Given the description of an element on the screen output the (x, y) to click on. 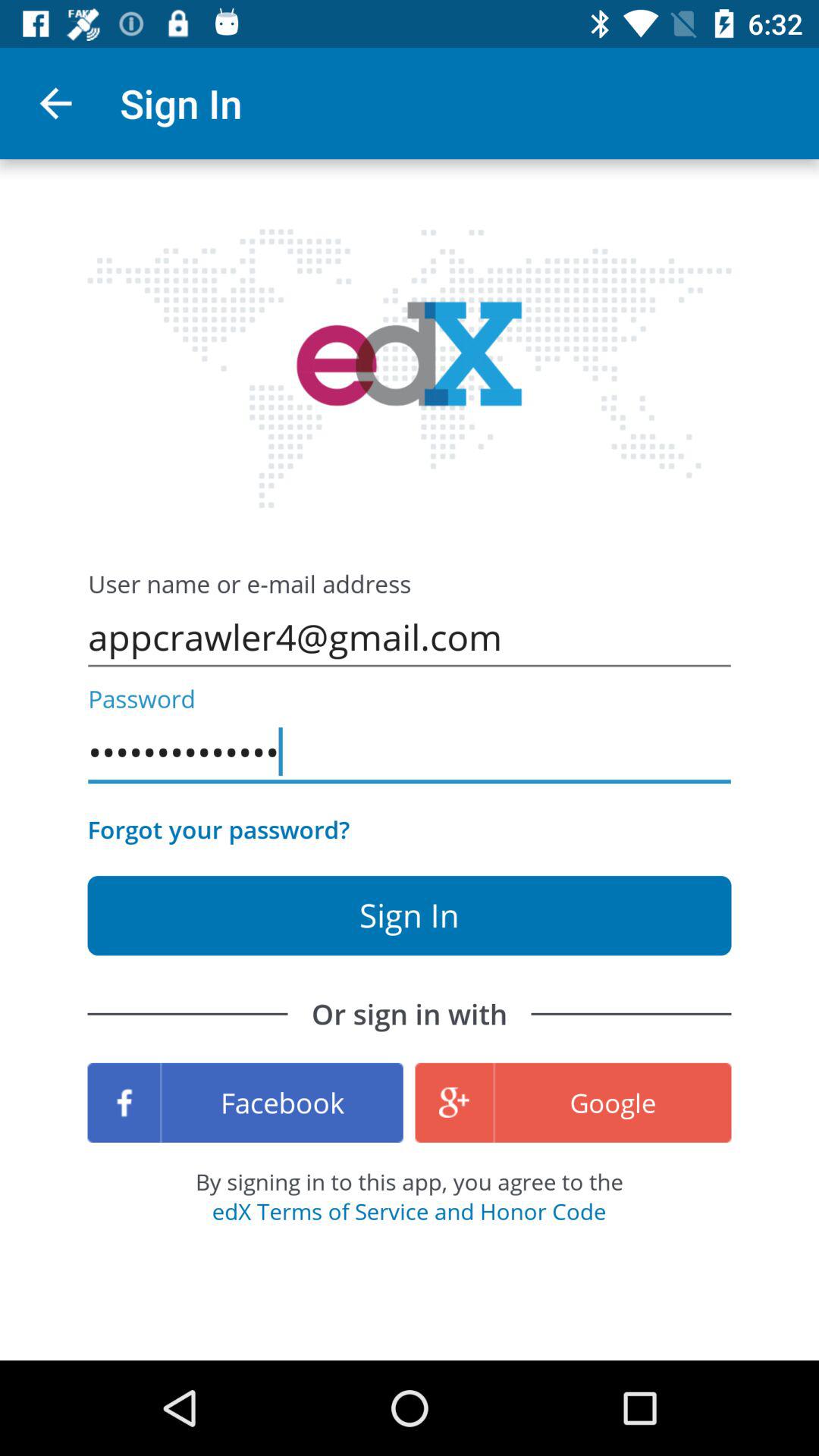
select the appcrawler4@gmail.com (409, 637)
